Given the description of an element on the screen output the (x, y) to click on. 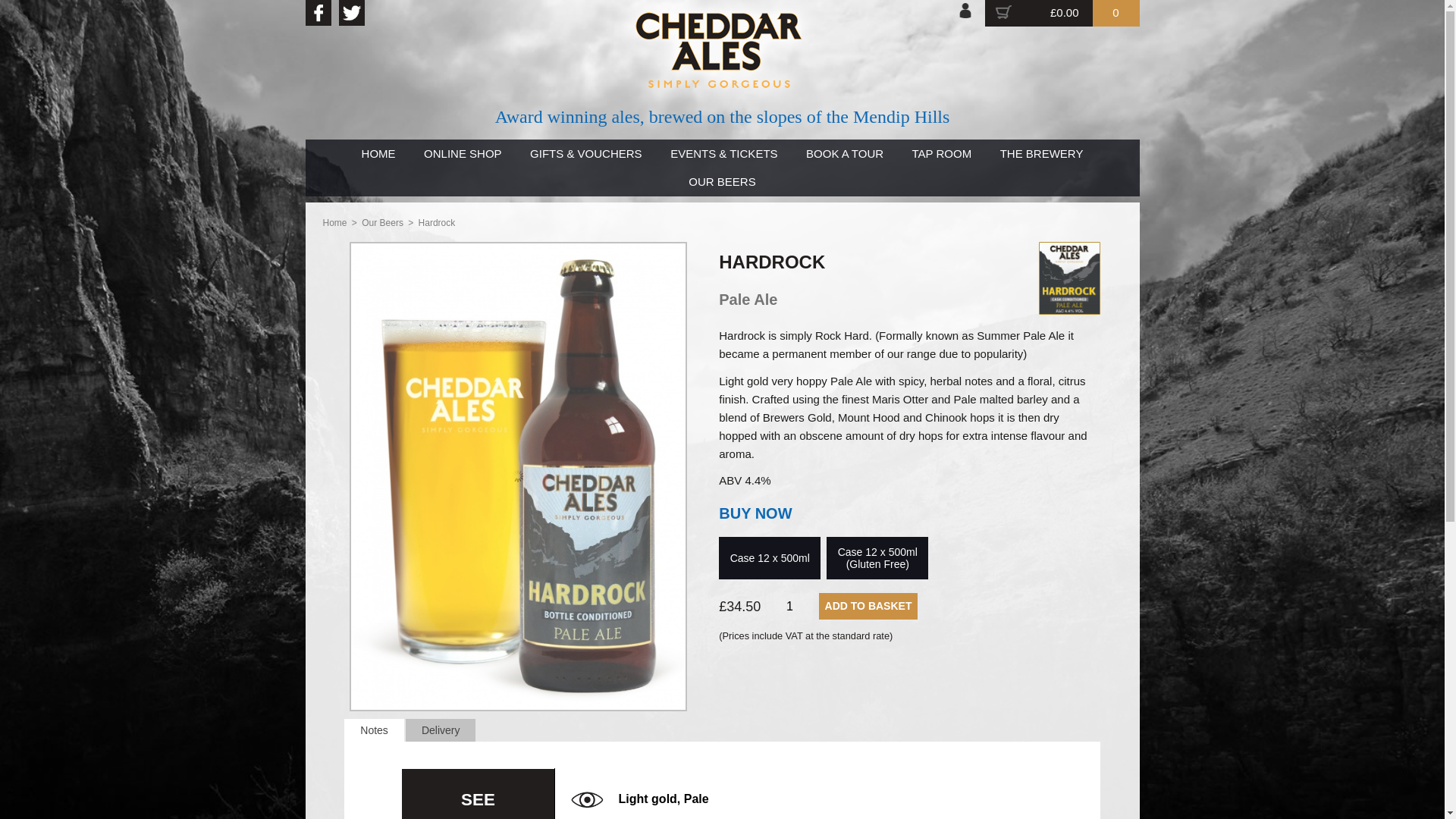
OUR BEERS (722, 182)
1 (789, 605)
TAP ROOM (941, 153)
BOOK A TOUR (844, 153)
ONLINE SHOP (462, 153)
THE BREWERY (1041, 153)
HOME (378, 153)
